Given the description of an element on the screen output the (x, y) to click on. 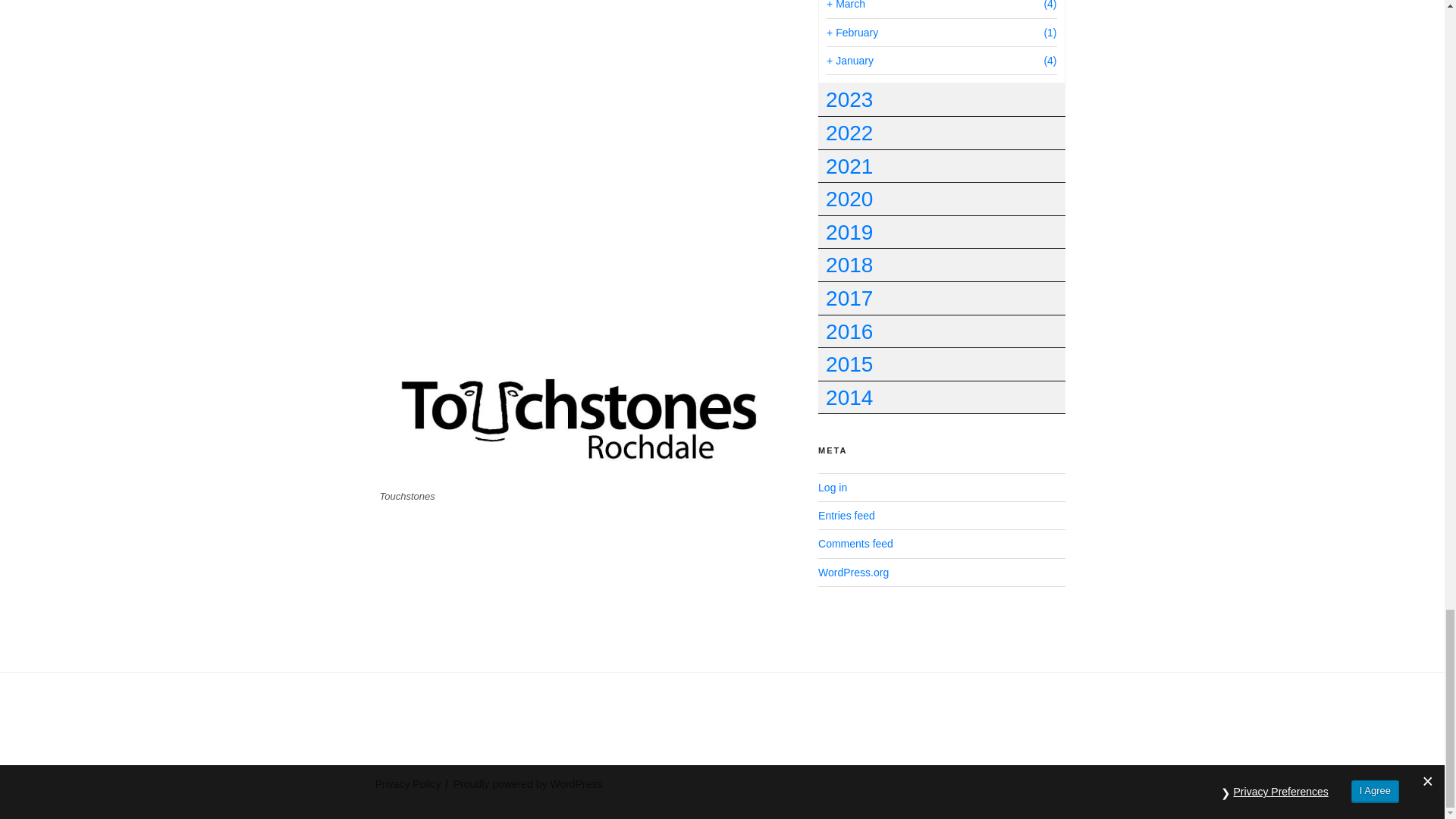
2023 (941, 100)
